Given the description of an element on the screen output the (x, y) to click on. 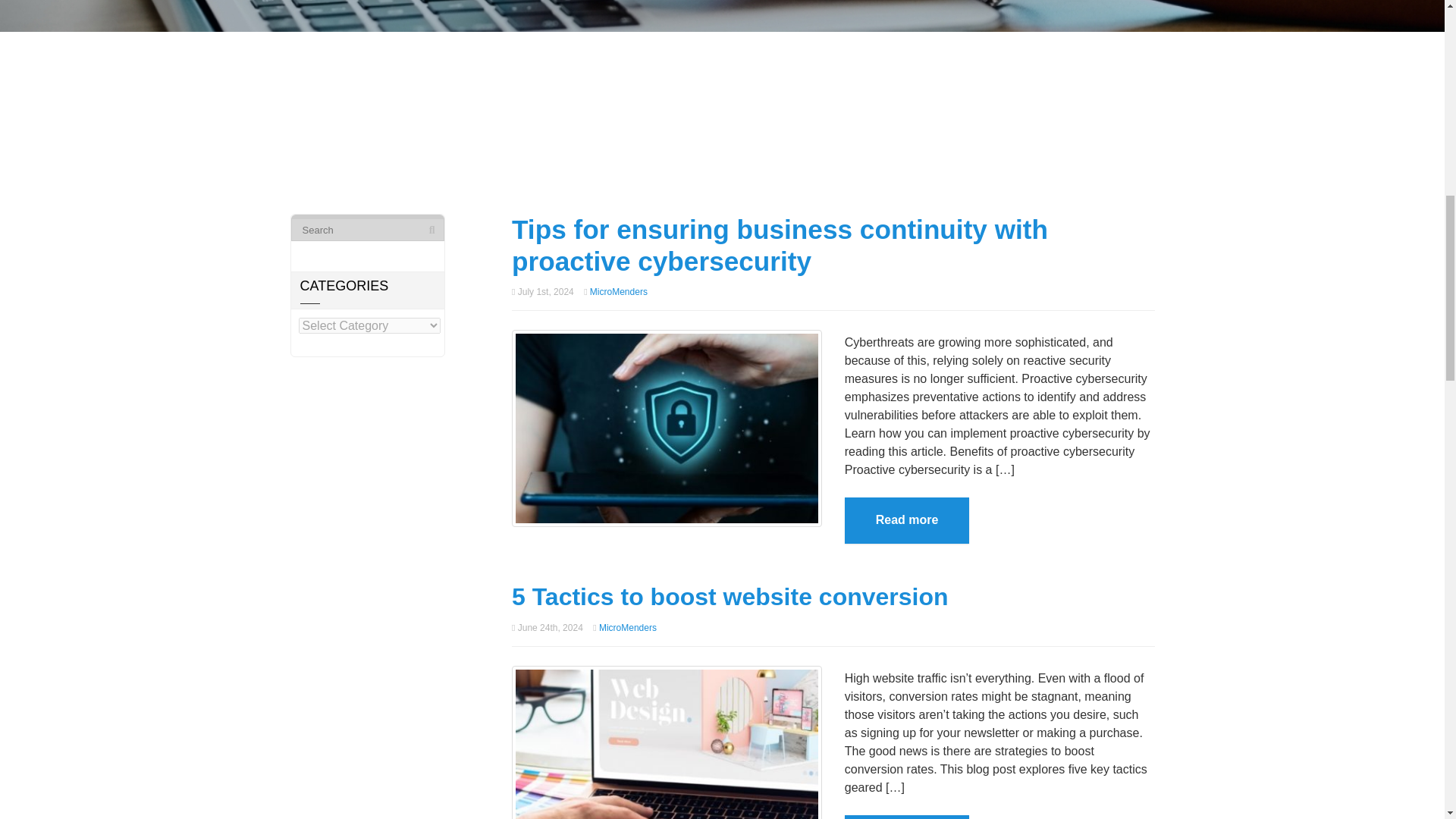
Posts by MicroMenders (627, 627)
5 Tactics to boost website conversion (667, 762)
5 Tactics to boost website conversion (730, 596)
Posts by MicroMenders (618, 291)
